Given the description of an element on the screen output the (x, y) to click on. 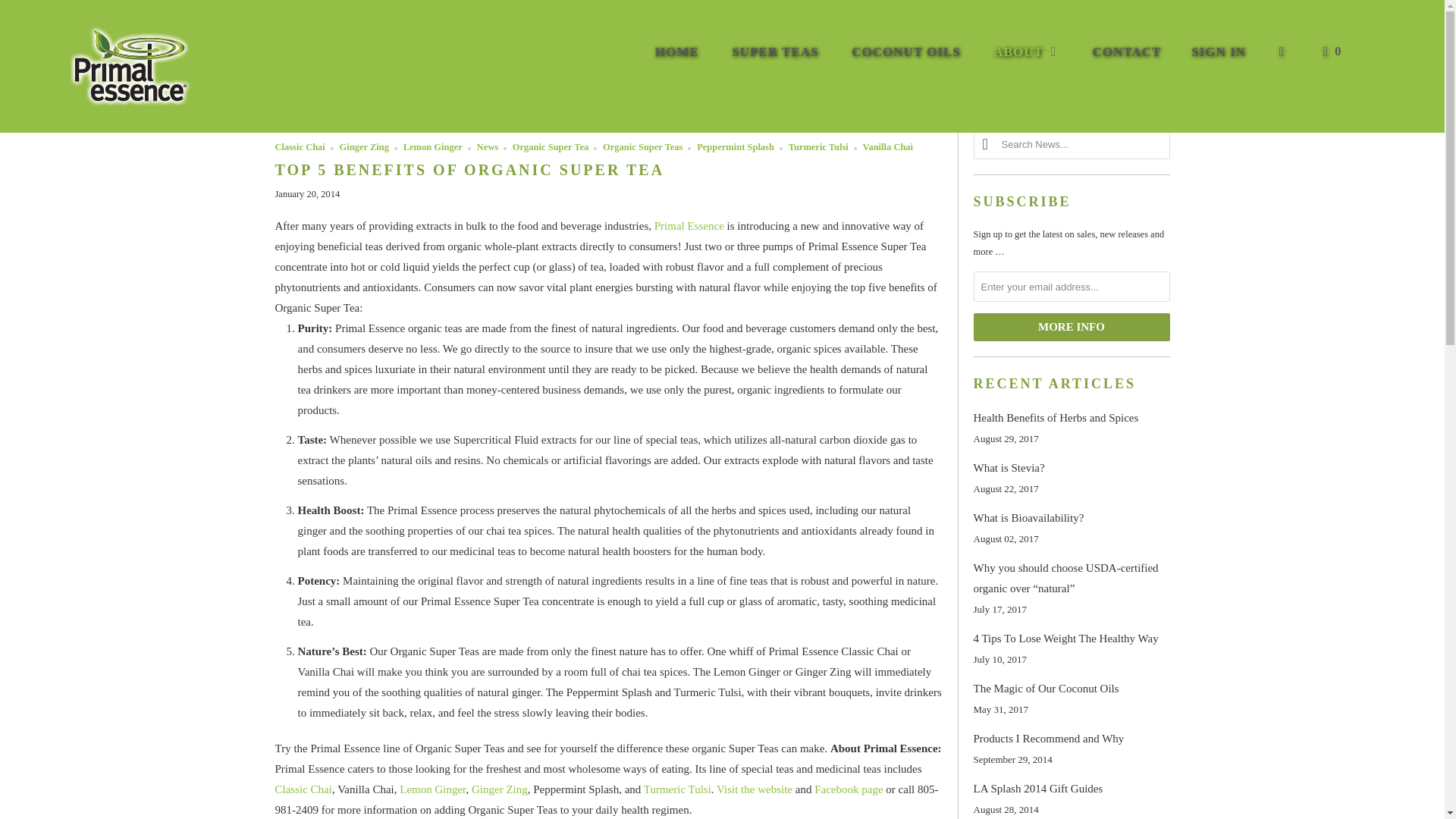
News tagged Turmeric Tulsi (818, 146)
Vanilla Chai (888, 146)
News tagged Classic Chai (299, 146)
HOME (676, 51)
News tagged News (487, 146)
News tagged Ginger Zing (363, 146)
more info (1072, 326)
News tagged Organic Super Tea (550, 146)
News (487, 146)
Primal Essence (688, 225)
